Given the description of an element on the screen output the (x, y) to click on. 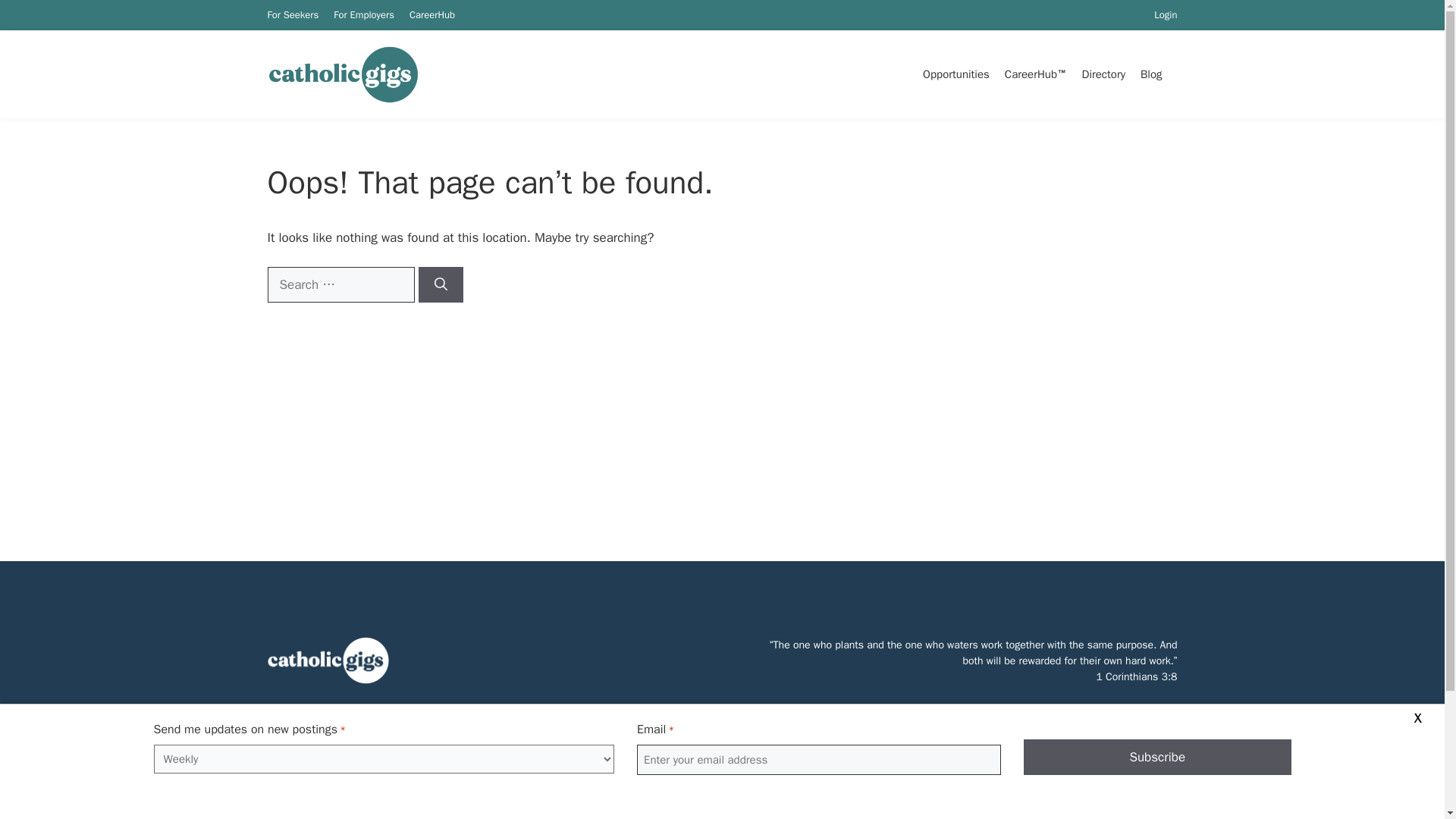
Login (1165, 14)
x (1417, 715)
Opportunities (948, 74)
Subscribe (1157, 756)
For Seekers (292, 14)
Subscribe (1157, 756)
For Employers (363, 14)
Directory (1096, 74)
CG-logo-standard-white-no-fill-rgb (327, 660)
CareerHub (431, 14)
Search for: (339, 284)
